Given the description of an element on the screen output the (x, y) to click on. 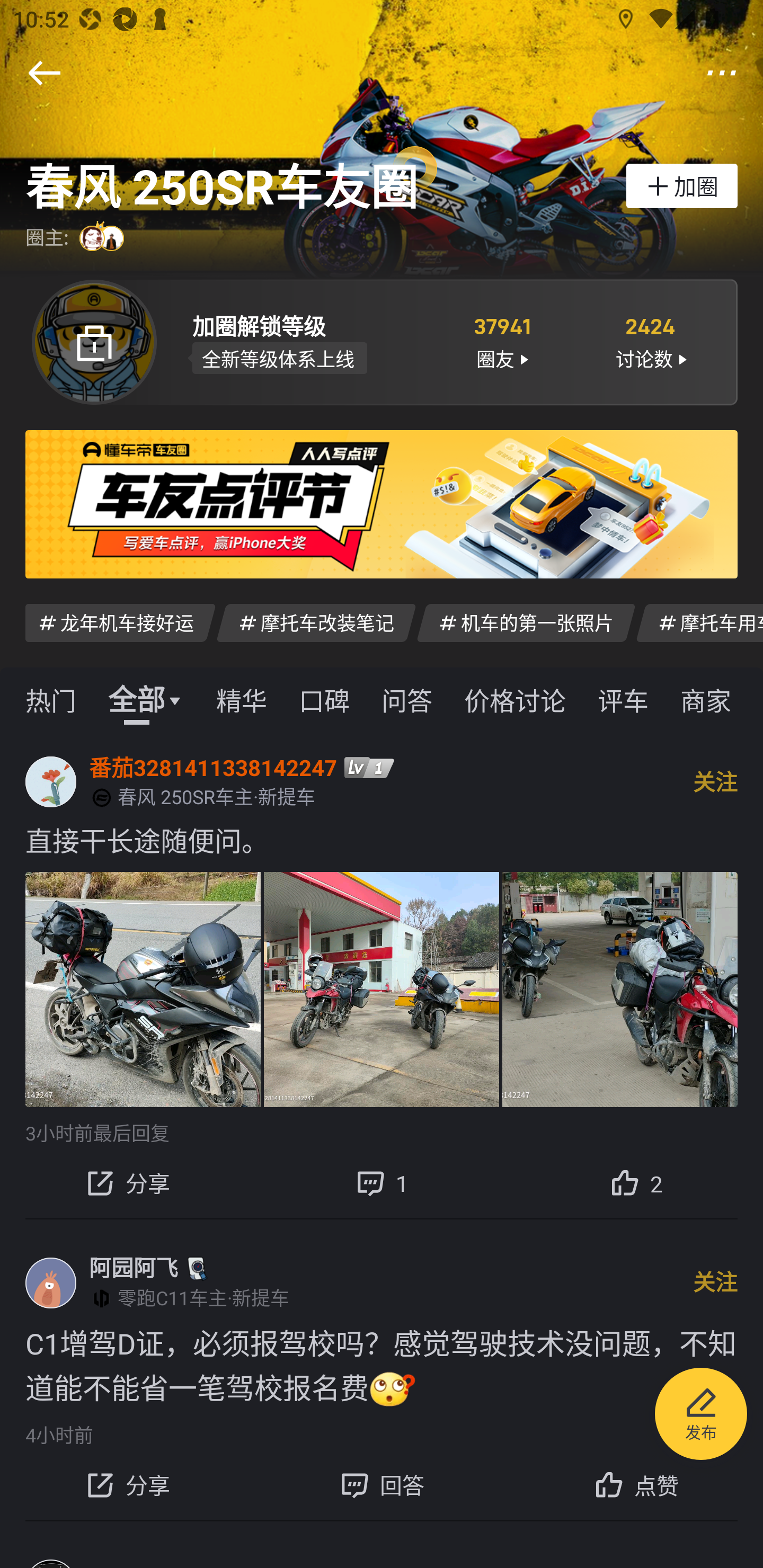
 (44, 72)
 (721, 72)
圈主: (76, 238)
加圈解锁等级 全新等级体系上线 (307, 341)
37941 圈友 (501, 341)
2424 讨论数 (650, 341)
 龙年机车接好运 (120, 622)
 摩托车改装笔记 (315, 622)
 机车的第一张照片 (525, 622)
 摩托车用车感受 (699, 622)
热门 (50, 698)
全部  (146, 698)
精华 (241, 698)
口碑 (324, 698)
问答 (406, 698)
价格讨论 (514, 698)
评车 (622, 698)
商家 (705, 698)
番茄3281411338142247 (213, 767)
关注 (714, 781)
直接干长途随便问。 (381, 839)
 分享 (127, 1182)
 1 (381, 1182)
2 (635, 1182)
阿园阿飞 (133, 1268)
关注 (714, 1282)
C1增驾D证，必须报驾校吗？感觉驾驶技术没问题，不知道能不能省一笔驾校报名费[what] (381, 1365)
 发布 (701, 1416)
 分享 (127, 1485)
 回答 (381, 1485)
点赞 (635, 1485)
